Given the description of an element on the screen output the (x, y) to click on. 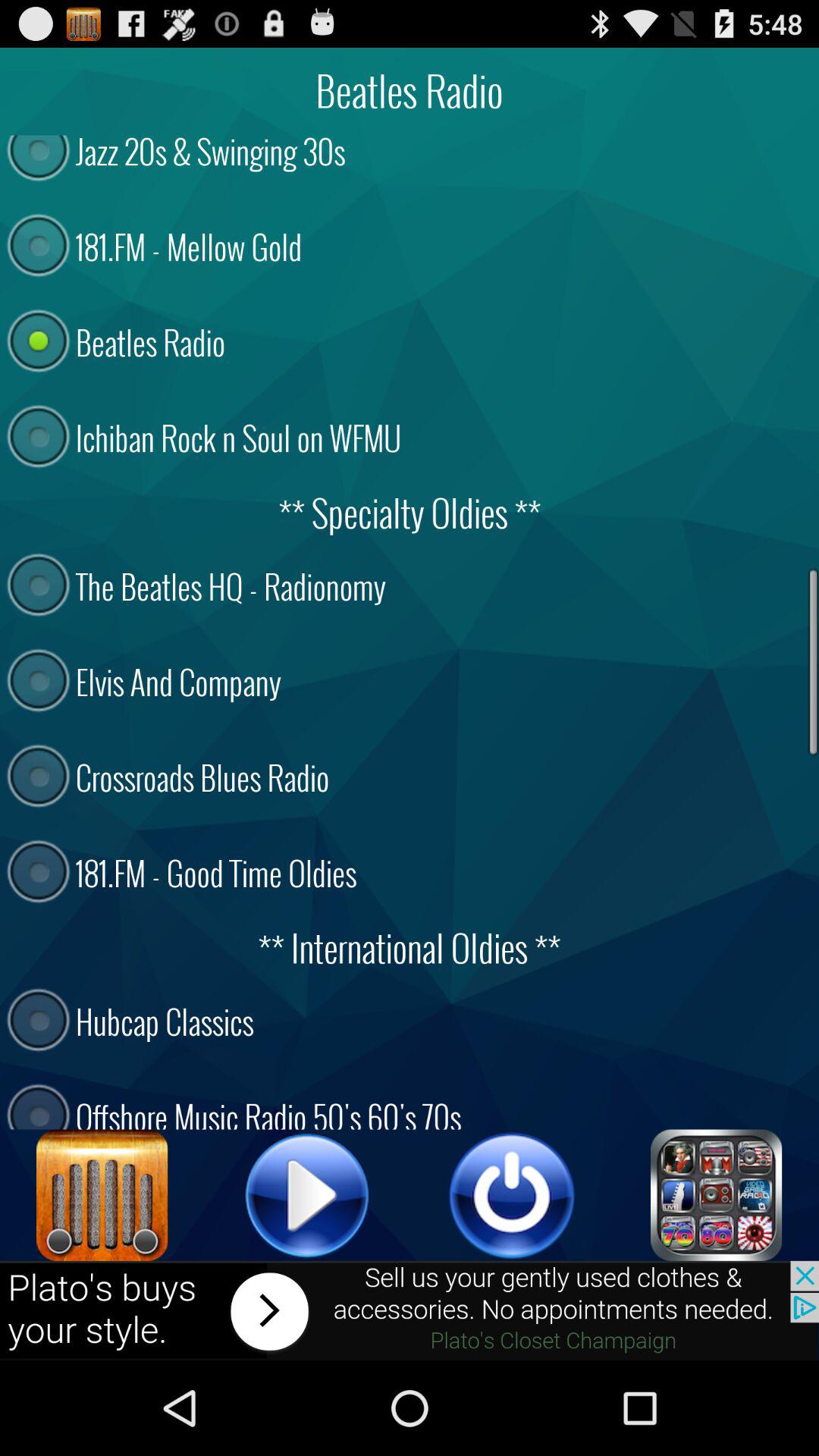
radio icon (102, 1194)
